Given the description of an element on the screen output the (x, y) to click on. 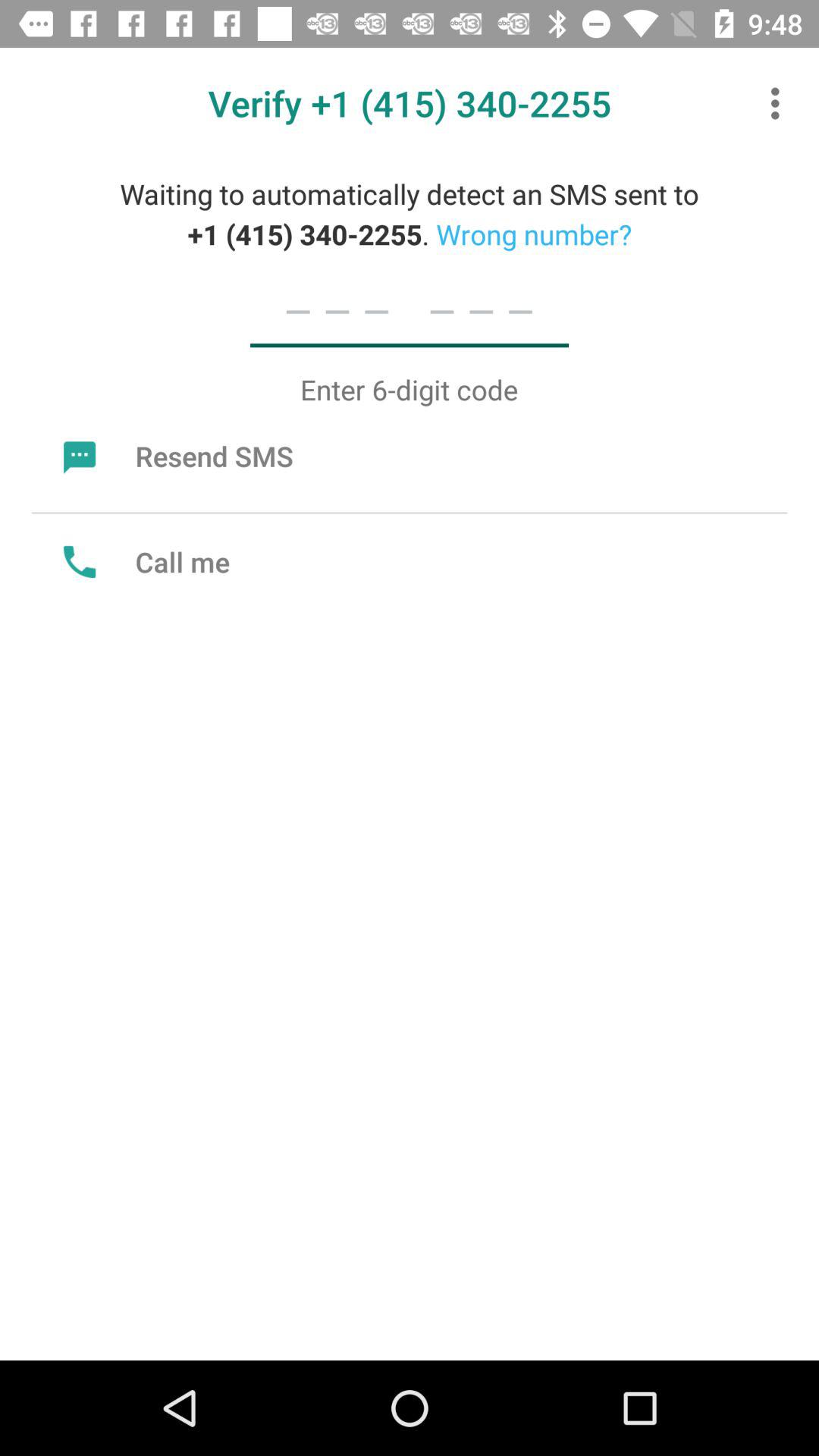
turn on icon next to the verify 1 415 item (779, 103)
